Given the description of an element on the screen output the (x, y) to click on. 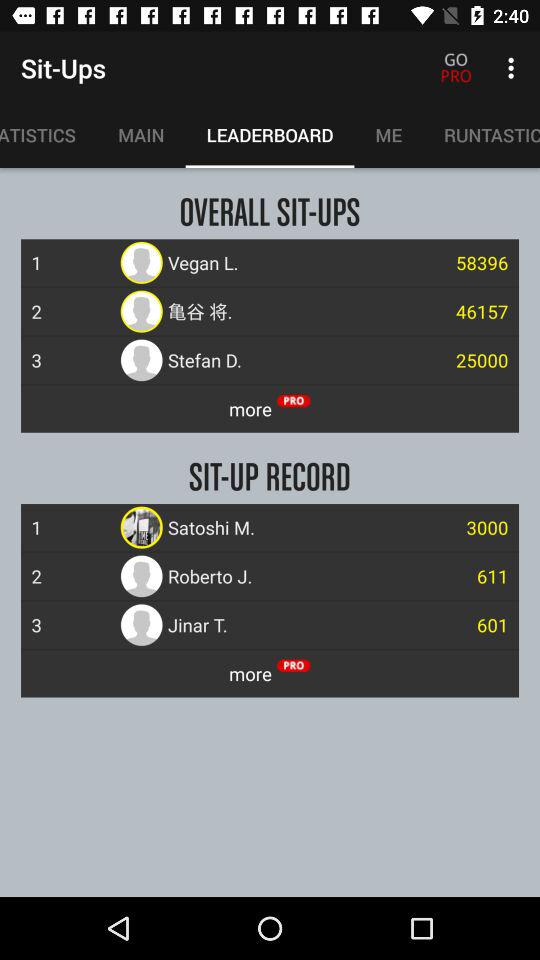
choose the app below the sit-ups item (48, 135)
